Given the description of an element on the screen output the (x, y) to click on. 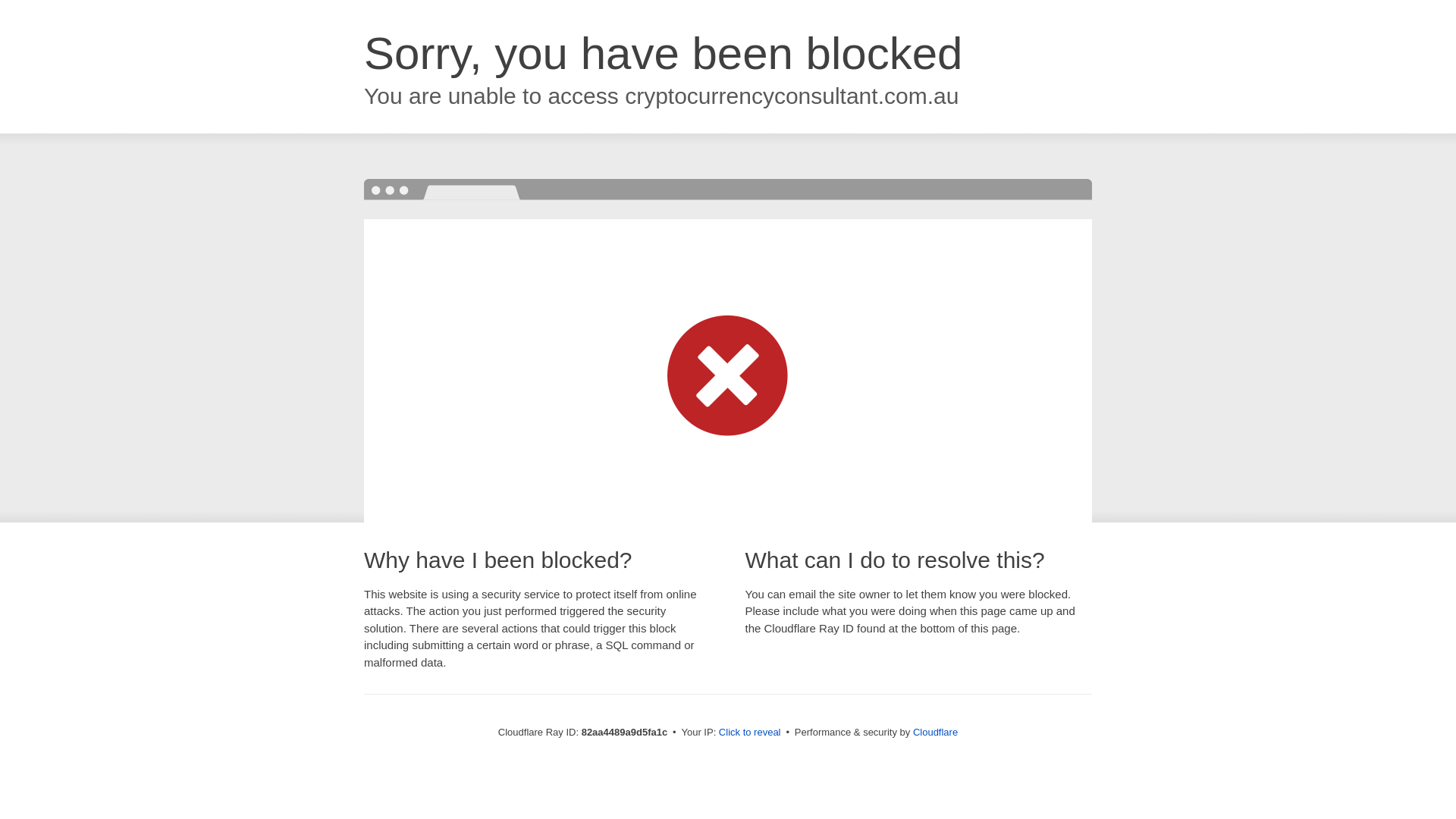
Cloudflare Element type: text (935, 731)
Click to reveal Element type: text (749, 732)
